Given the description of an element on the screen output the (x, y) to click on. 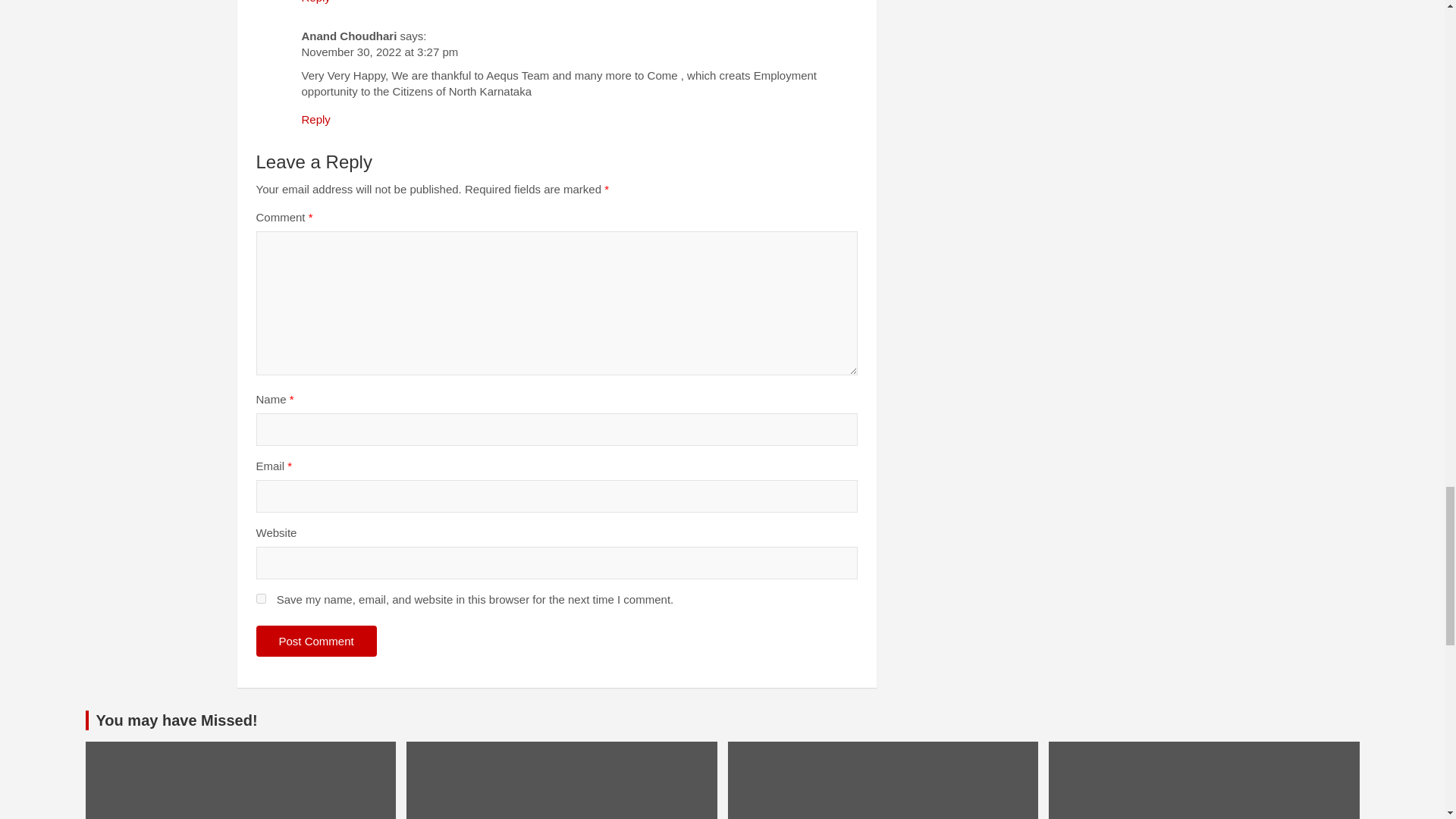
yes (261, 598)
Post Comment (316, 640)
